Given the description of an element on the screen output the (x, y) to click on. 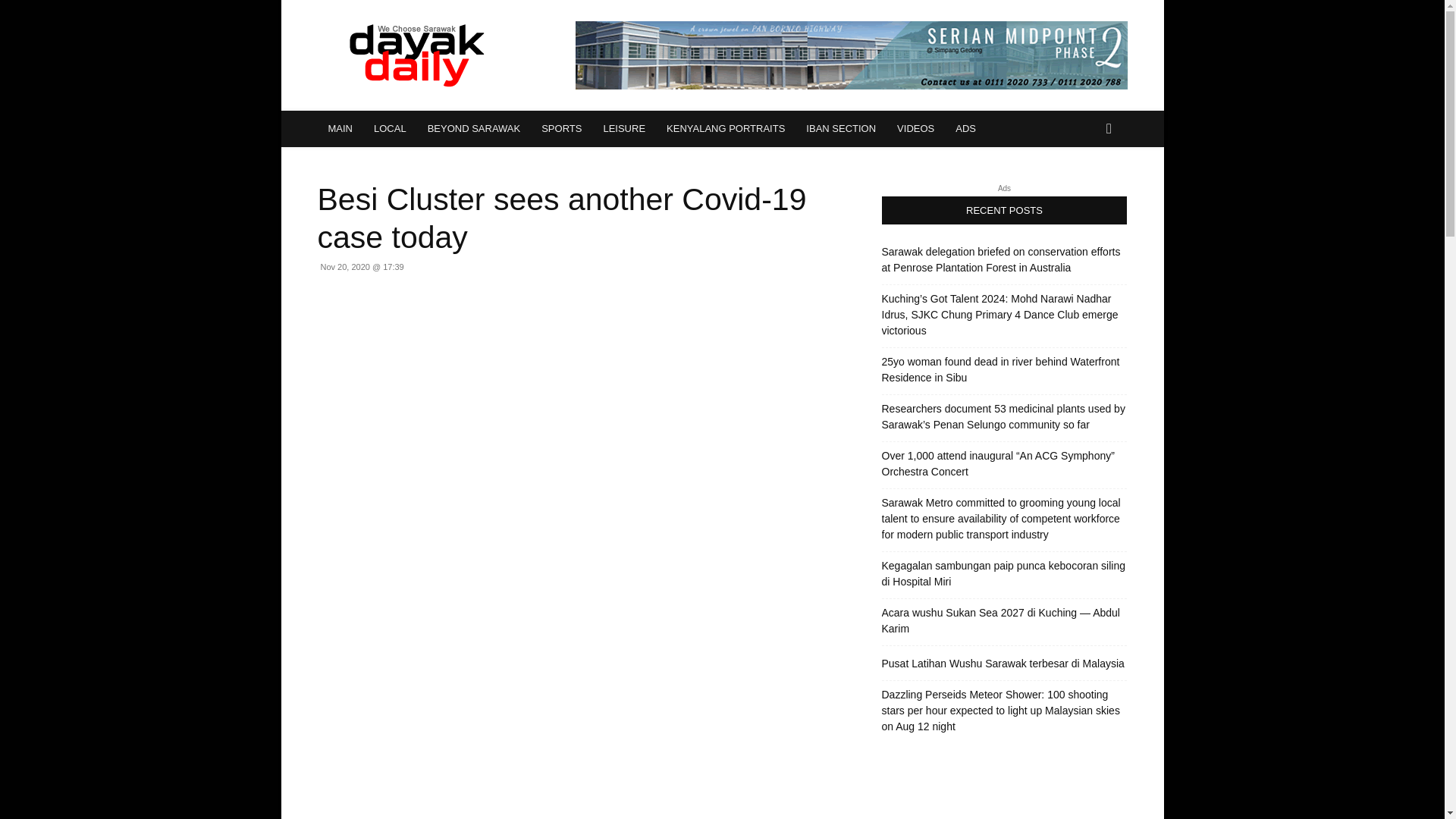
ADS (965, 128)
LOCAL (389, 128)
VIDEOS (915, 128)
BEYOND SARAWAK (473, 128)
IBAN SECTION (840, 128)
Search (1085, 189)
KENYALANG PORTRAITS (725, 128)
LEISURE (624, 128)
MAIN (339, 128)
SPORTS (561, 128)
